Given the description of an element on the screen output the (x, y) to click on. 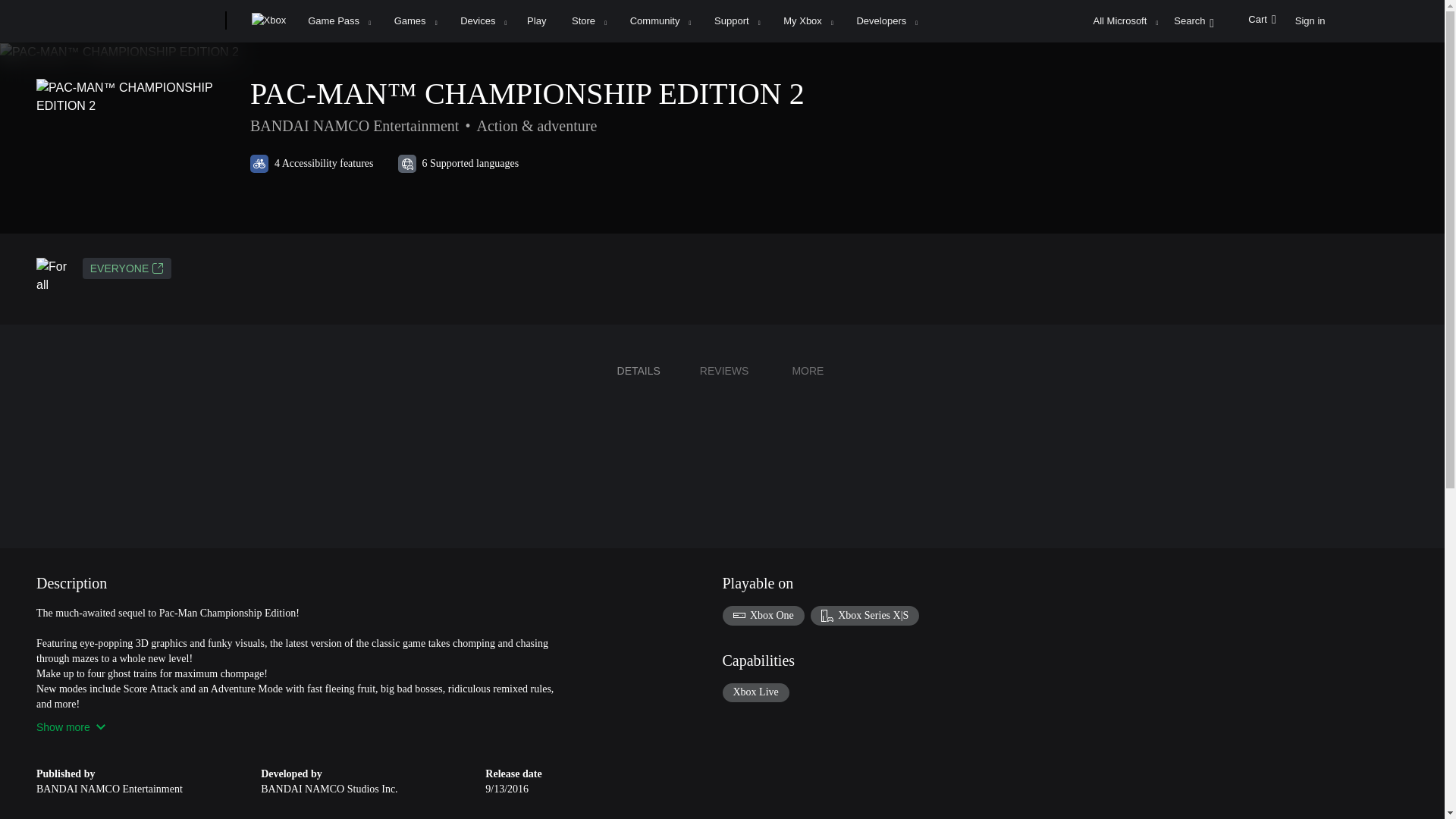
4 Accessibility features (312, 163)
Devices (482, 20)
Game Pass (338, 20)
Microsoft (167, 20)
Games (415, 20)
6 Supported languages (458, 163)
